Given the description of an element on the screen output the (x, y) to click on. 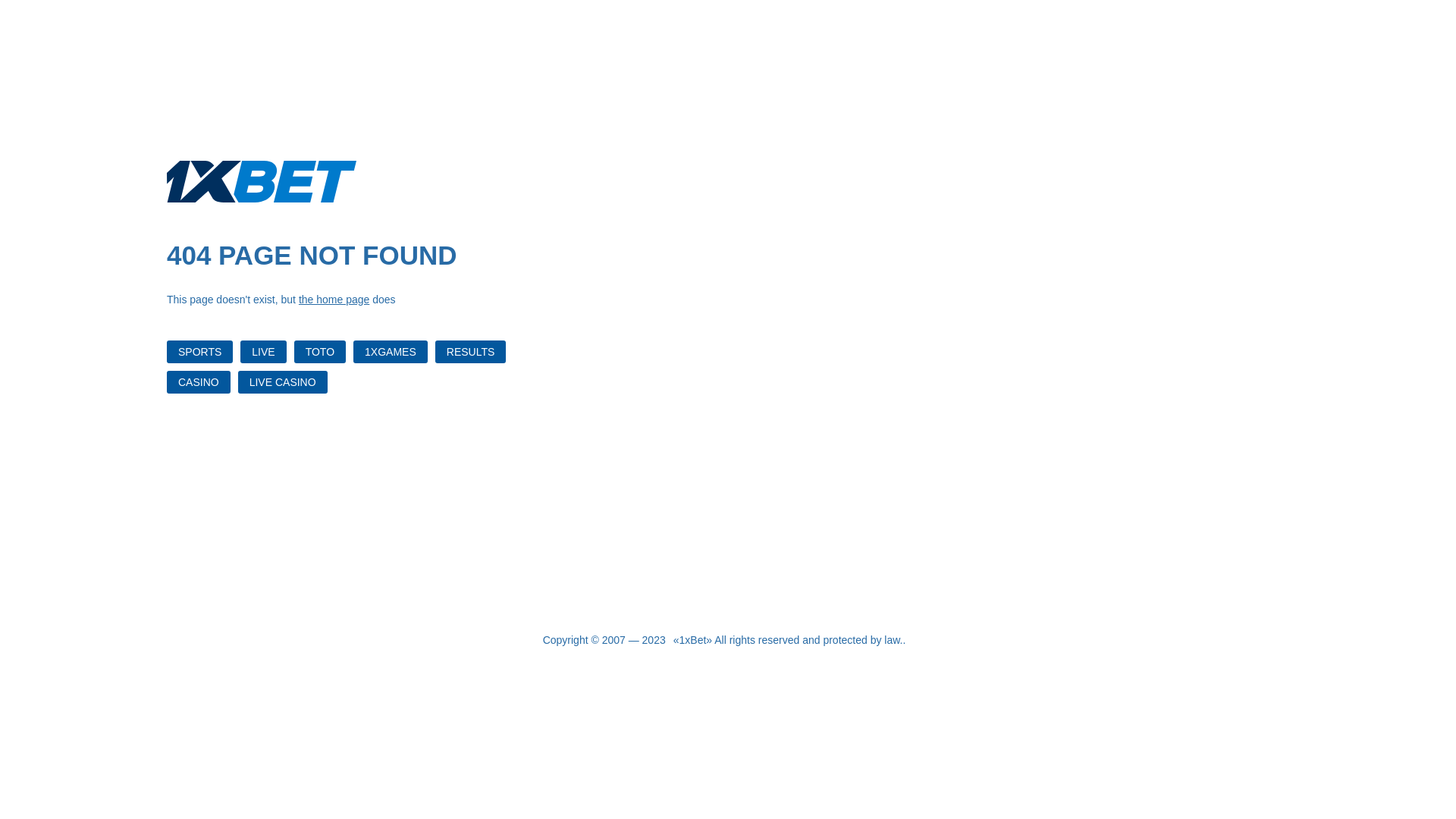
RESULTS Element type: text (470, 351)
TOTO Element type: text (319, 351)
CASINO Element type: text (198, 381)
SPORTS Element type: text (199, 351)
the home page Element type: text (333, 299)
1XGAMES Element type: text (390, 351)
LIVE Element type: text (262, 351)
LIVE CASINO Element type: text (282, 381)
